Given the description of an element on the screen output the (x, y) to click on. 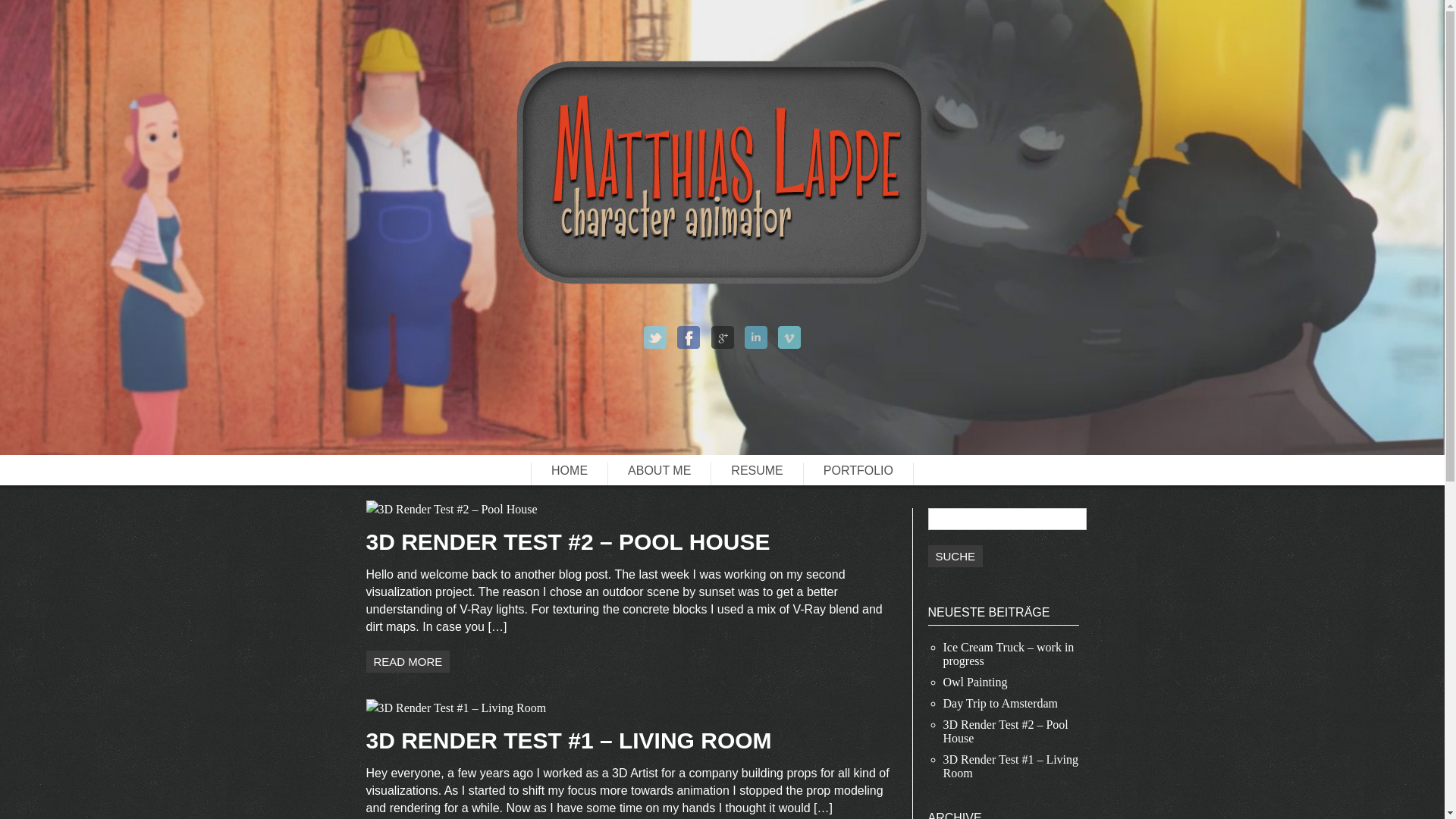
HOME (569, 473)
Suche (956, 556)
READ MORE (407, 661)
RESUME (756, 473)
Suche (956, 556)
Owl Painting (975, 681)
Day Trip to Amsterdam (1000, 703)
PORTFOLIO (857, 473)
ABOUT ME (659, 473)
